Given the description of an element on the screen output the (x, y) to click on. 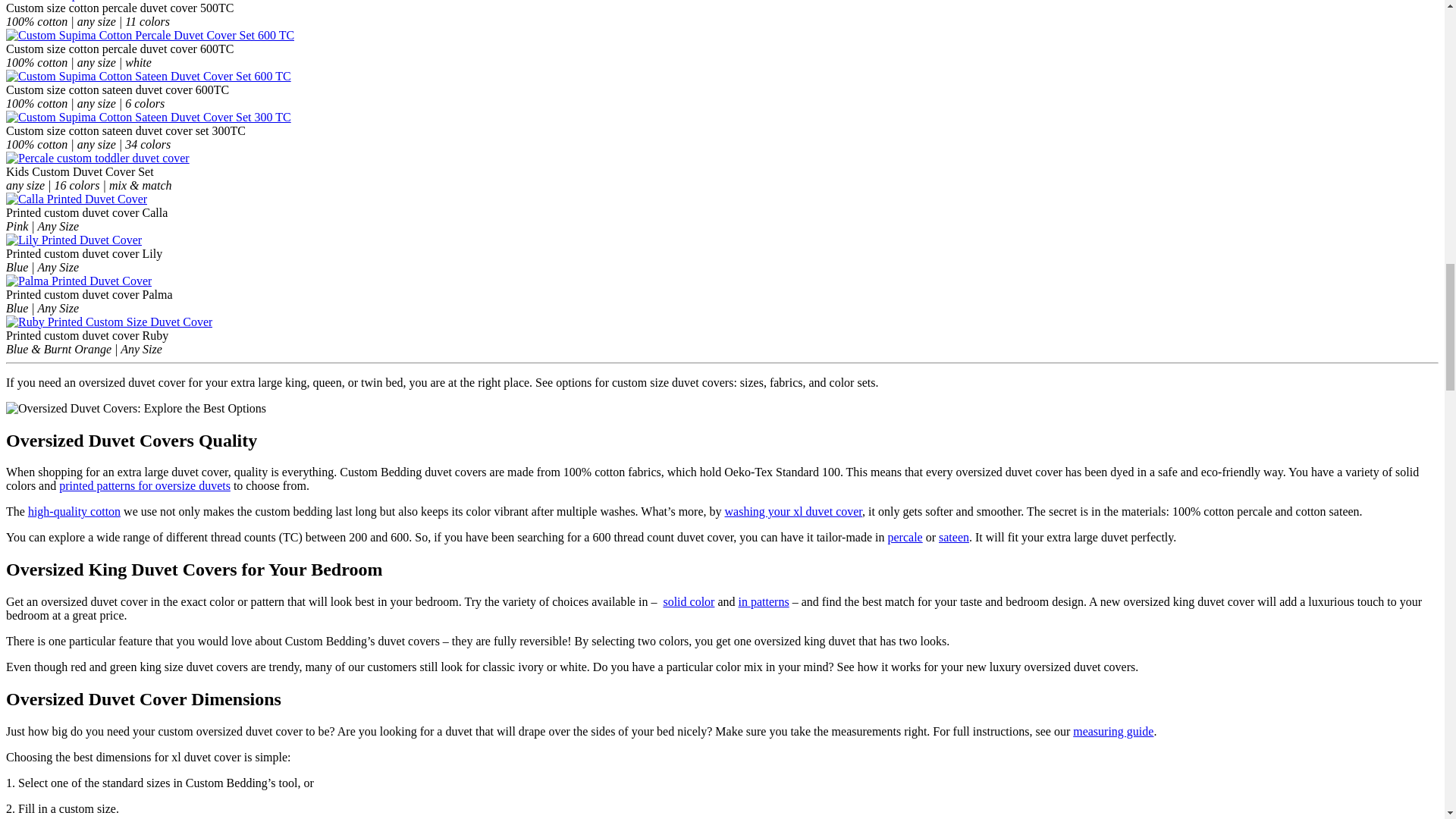
in patterns (763, 601)
solid color (688, 601)
washing your xl duvet cover (794, 511)
high-quality cotton (73, 511)
percale (905, 536)
sateen (954, 536)
printed patterns for oversize duvets (144, 485)
measuring guide (1113, 730)
